Given the description of an element on the screen output the (x, y) to click on. 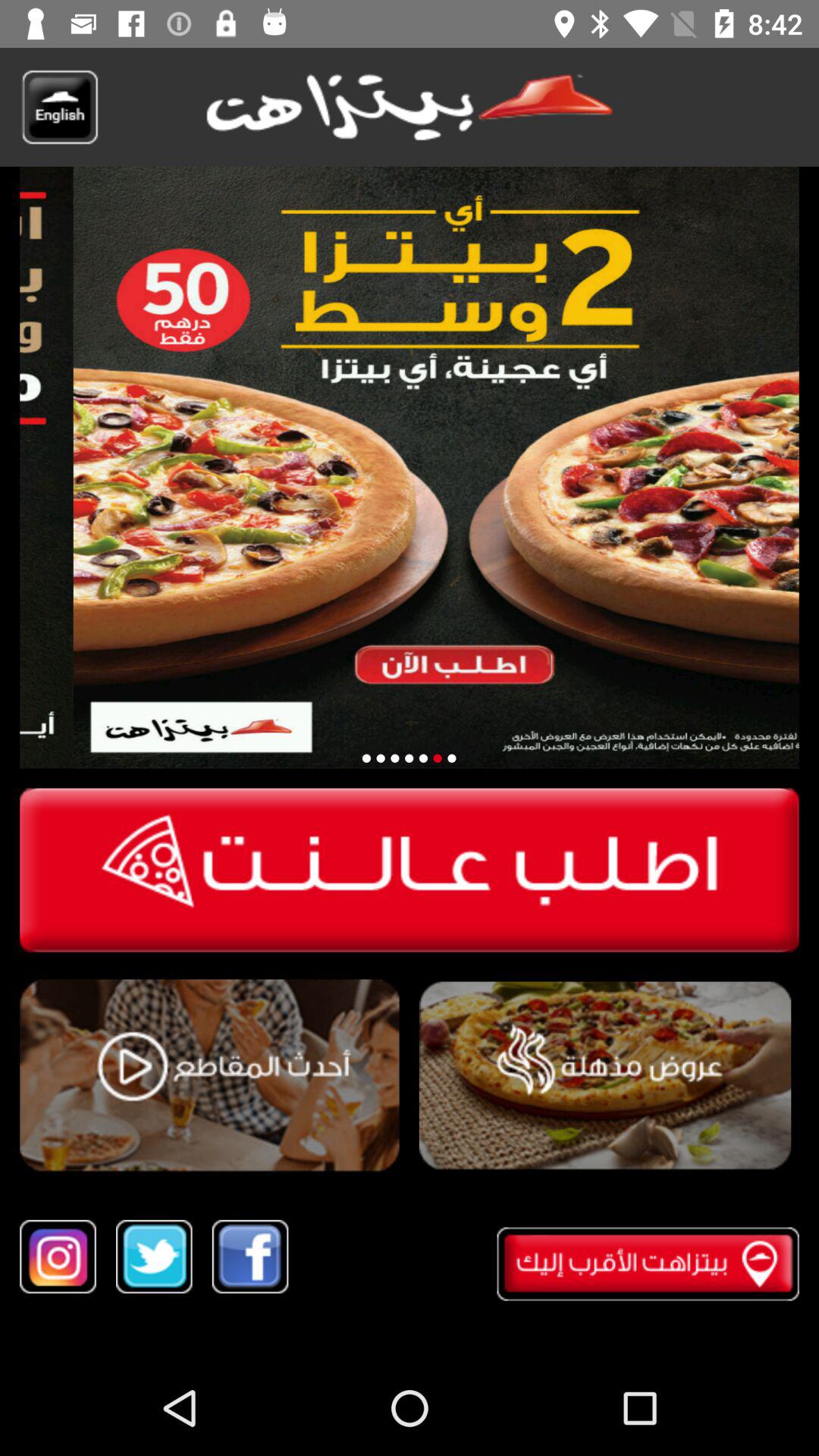
next page the article (451, 758)
